Given the description of an element on the screen output the (x, y) to click on. 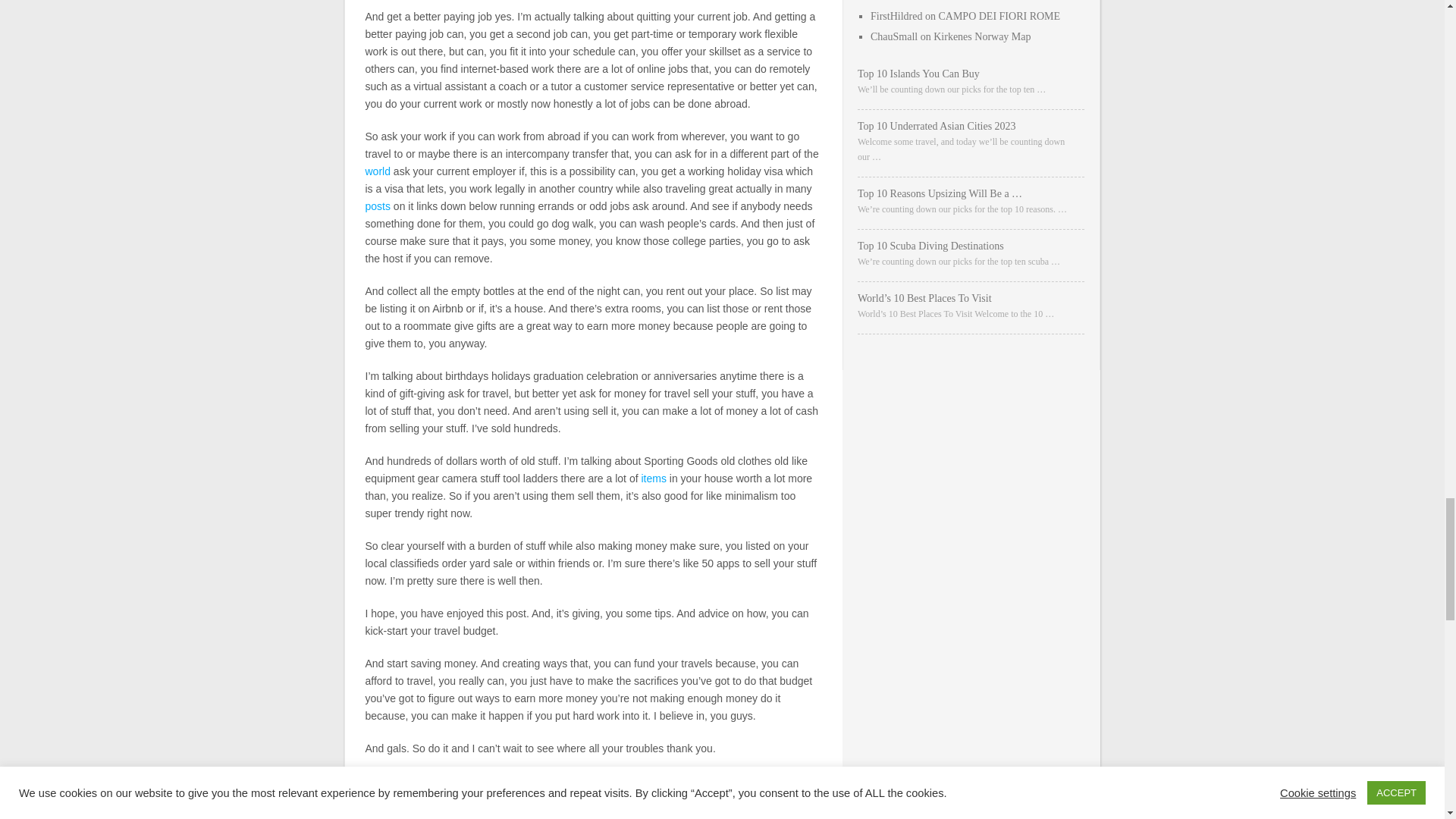
posts (377, 205)
world (377, 171)
